Given the description of an element on the screen output the (x, y) to click on. 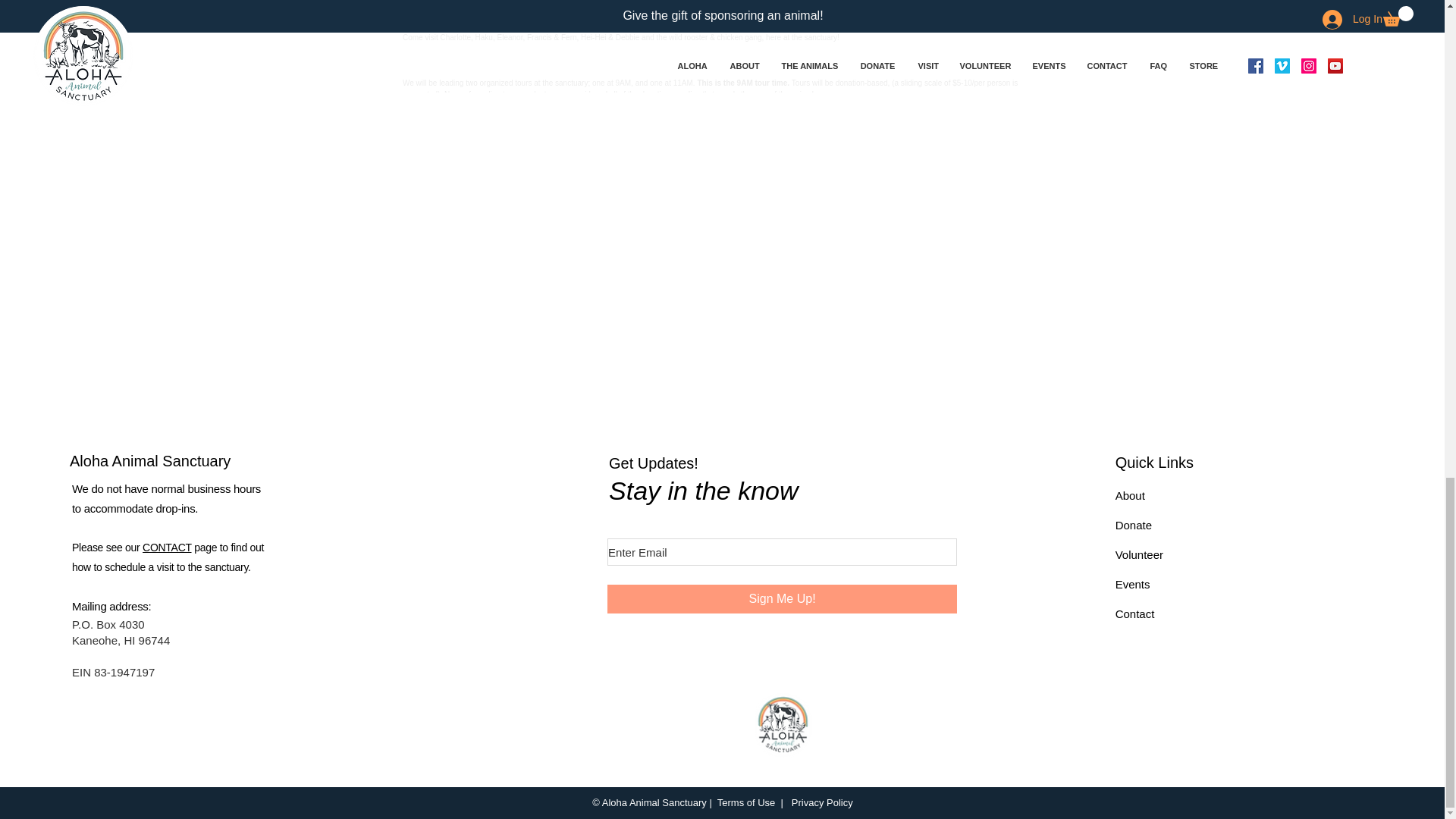
EIN 83-1947197 (112, 671)
CONTACT (166, 547)
